Given the description of an element on the screen output the (x, y) to click on. 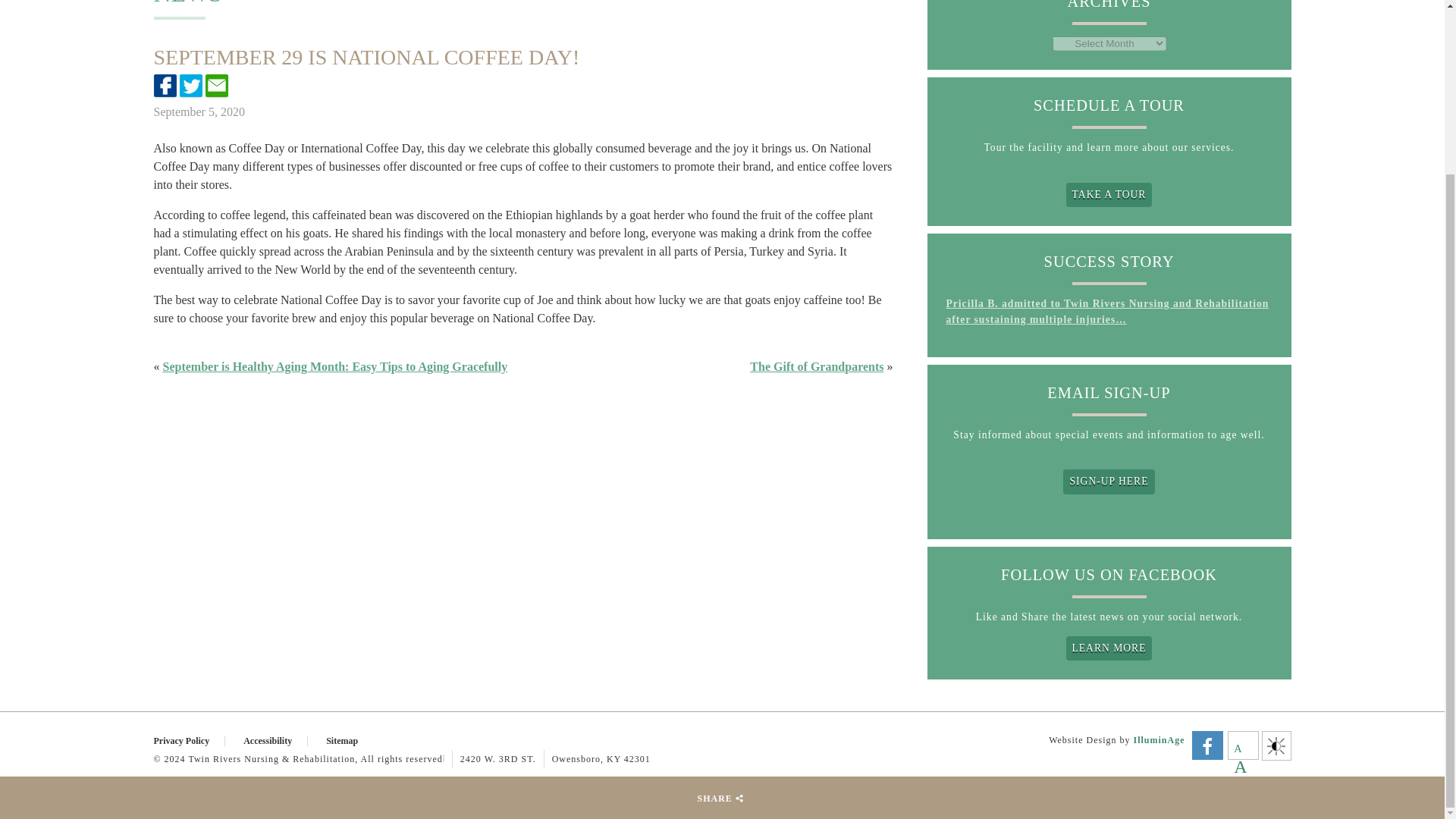
Sitemap (350, 740)
LEARN MORE (1109, 648)
High Contrast: White Background with Black Text (1276, 745)
The Gift of Grandparents (816, 366)
Accessibility (275, 740)
IlluminAge (1158, 739)
Privacy Policy (188, 740)
TAKE A TOUR (1109, 194)
SIGN-UP HERE (1108, 481)
